Given the description of an element on the screen output the (x, y) to click on. 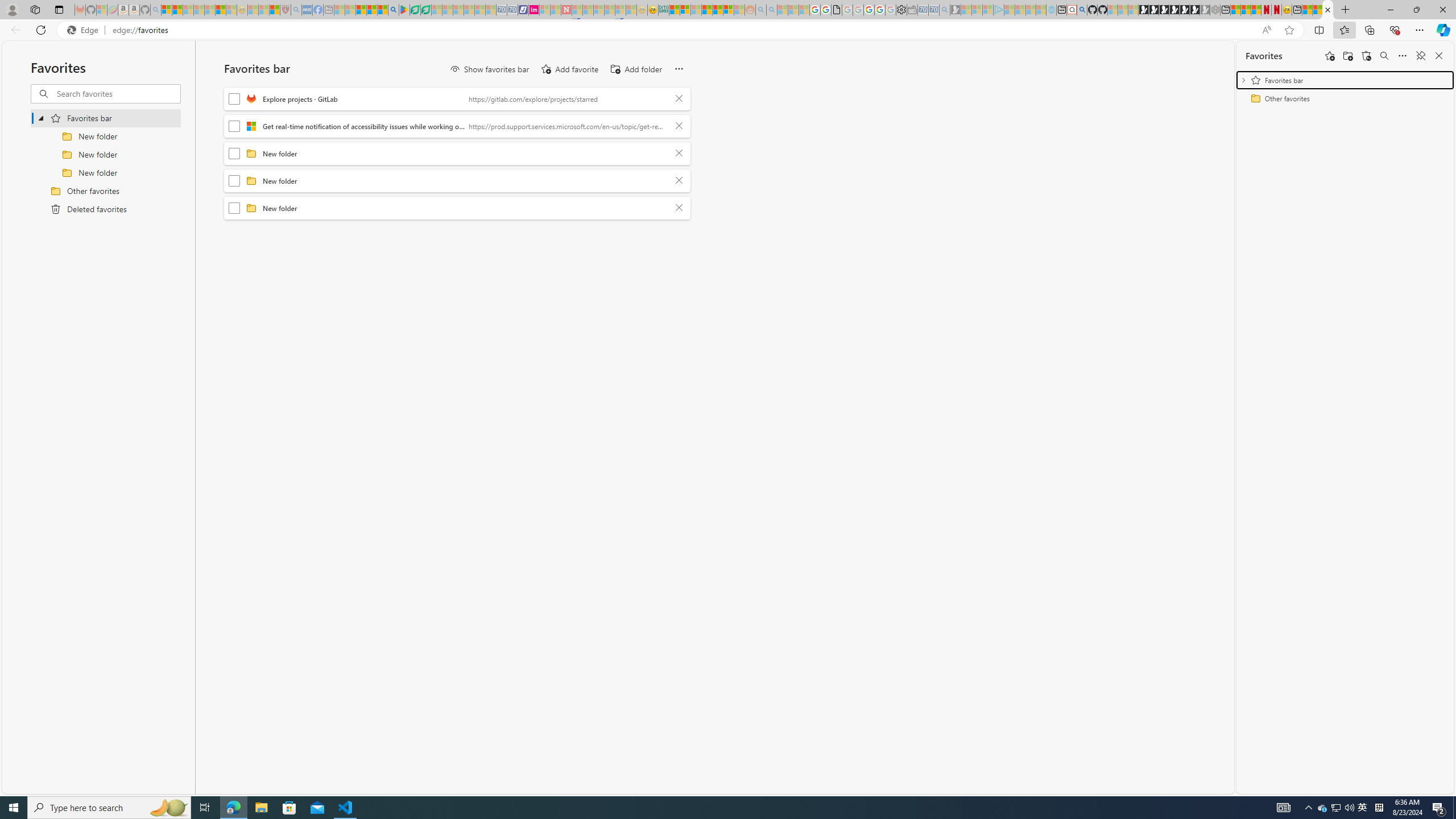
github - Search (1081, 9)
Search favorites (117, 93)
Microsoft Word - consumer-privacy address update 2.2021 (426, 9)
